Given the description of an element on the screen output the (x, y) to click on. 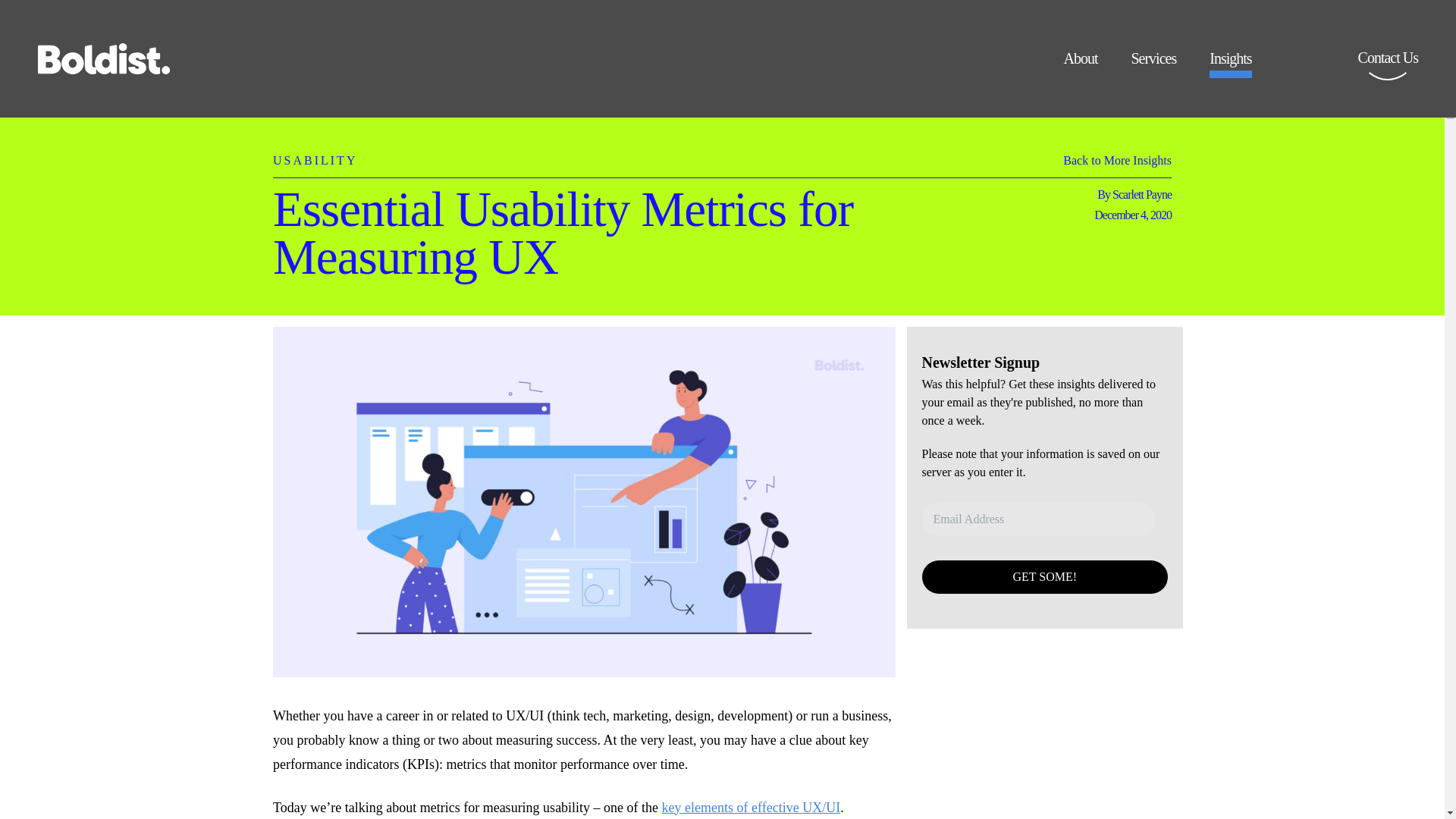
Services (1153, 63)
Posts by Scarlett Payne (1142, 194)
Insights (1229, 63)
About (1079, 63)
Scarlett Payne (1142, 194)
Back to More Insights (1117, 164)
GET SOME! (1045, 576)
USABILITY (314, 152)
GET SOME! (1045, 576)
Contact Us (1388, 68)
